Given the description of an element on the screen output the (x, y) to click on. 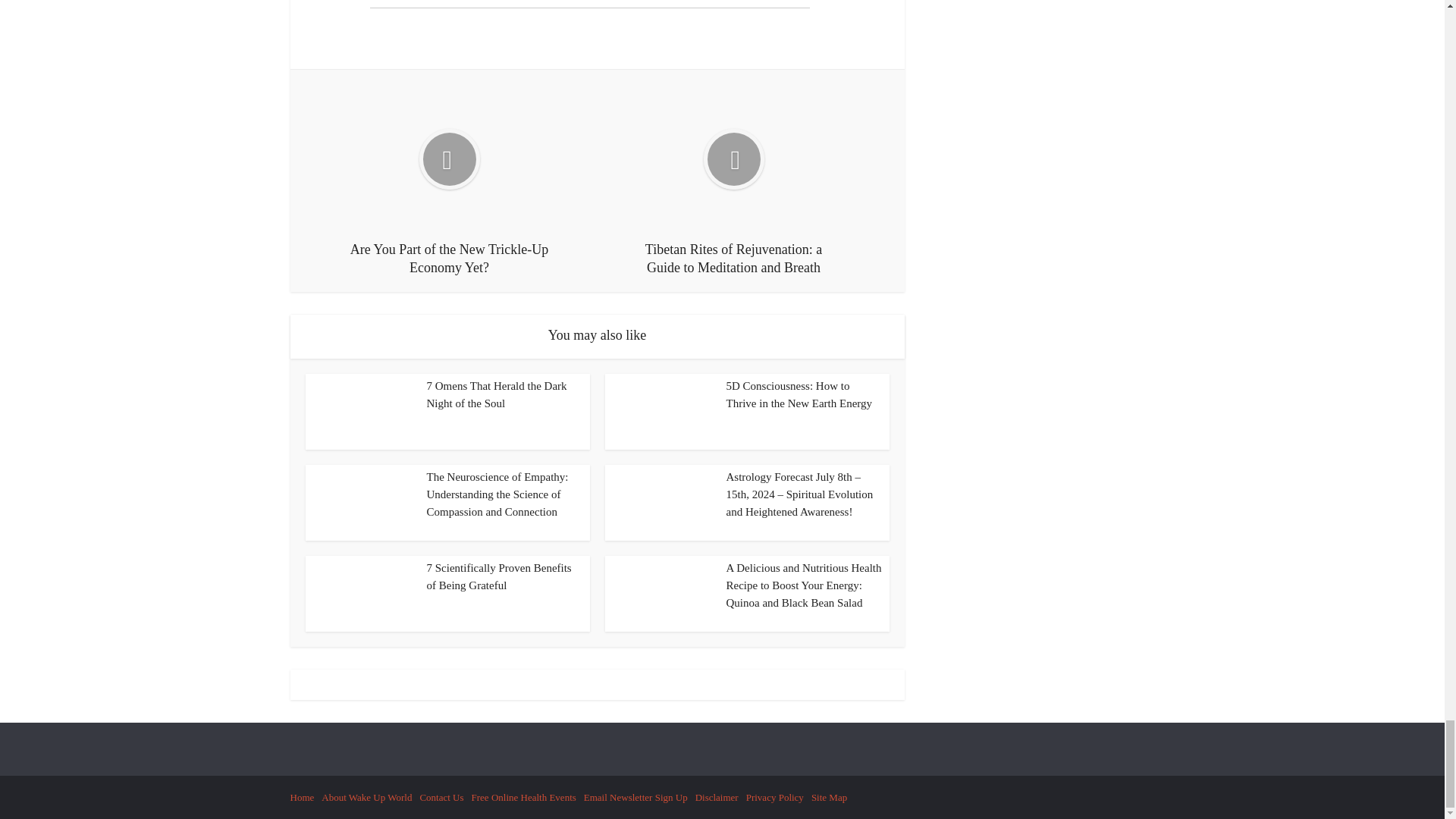
7 Omens That Herald the Dark Night of the Soul (496, 394)
5D Consciousness: How to Thrive in the New Earth Energy (799, 394)
